Given the description of an element on the screen output the (x, y) to click on. 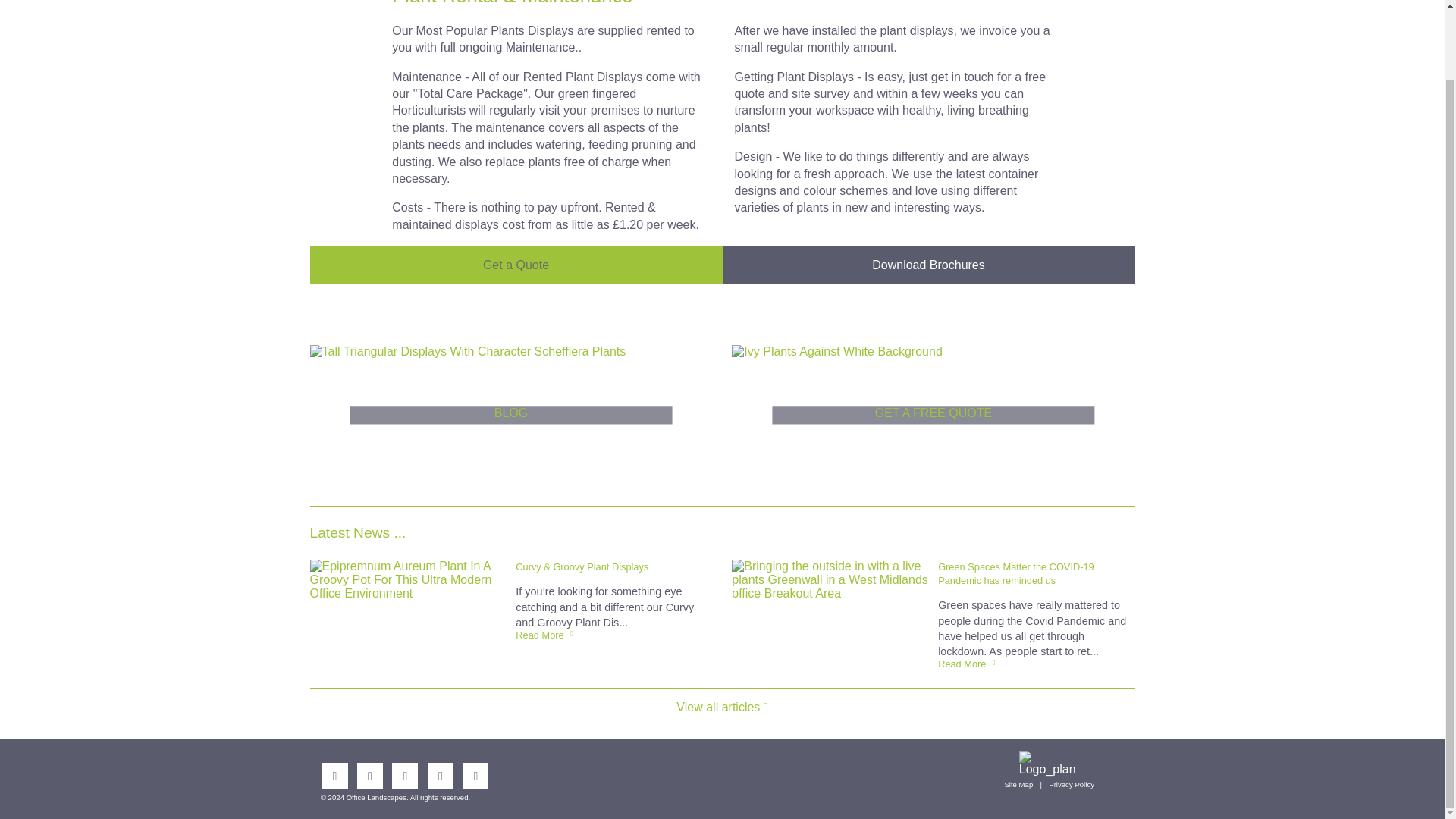
Get a Quote (515, 265)
GET A FREE QUOTE (933, 406)
Latest News ... (357, 532)
Read More (544, 634)
BLOG (509, 406)
Download Brochures (928, 265)
